Given the description of an element on the screen output the (x, y) to click on. 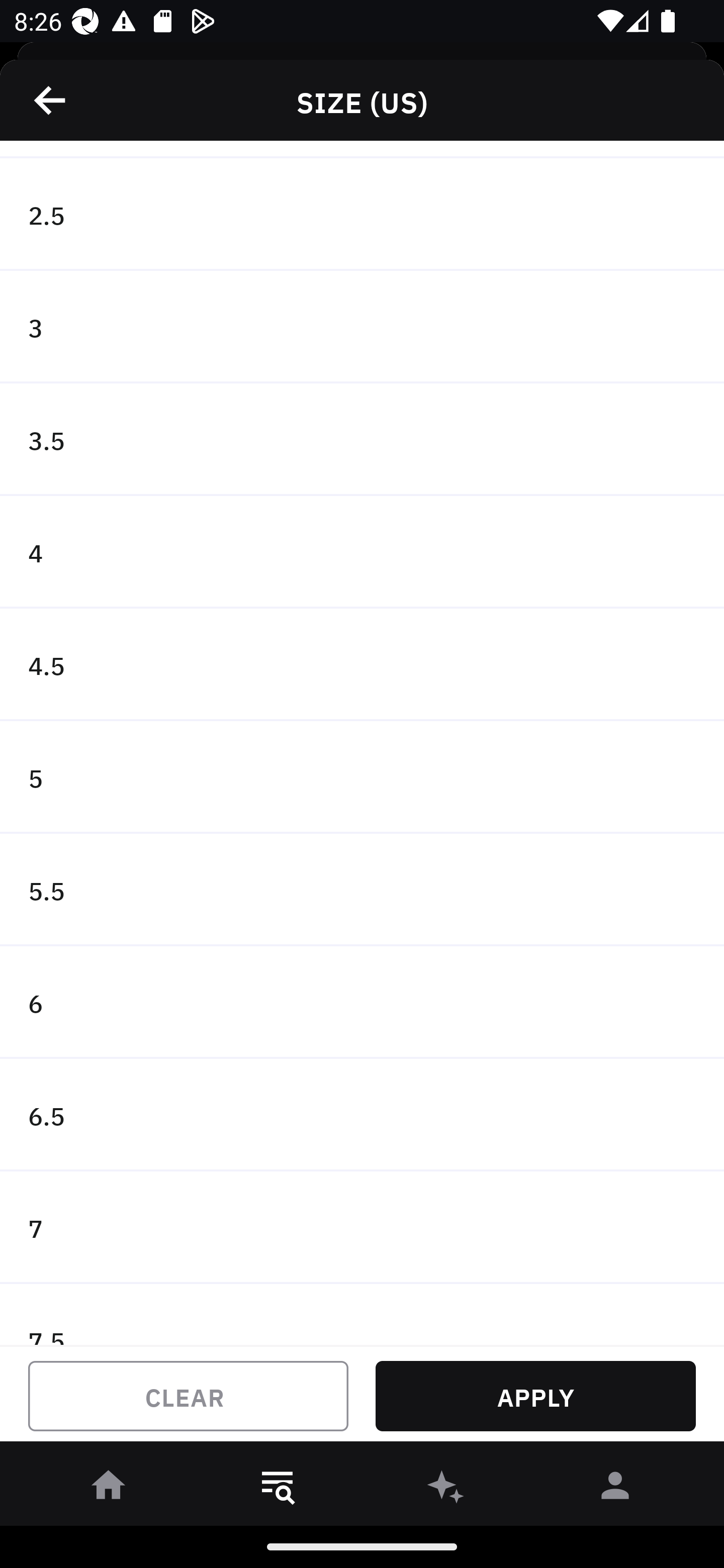
 (50, 100)
2.5 (362, 214)
3 (362, 327)
3.5 (362, 439)
4 (362, 551)
4.5 (362, 664)
5 (362, 777)
5.5 (362, 890)
6 (362, 1002)
6.5 (362, 1114)
7 (362, 1227)
CLEAR  (188, 1396)
APPLY (535, 1396)
󰋜 (108, 1488)
󱎸 (277, 1488)
󰫢 (446, 1488)
󰀄 (615, 1488)
